Given the description of an element on the screen output the (x, y) to click on. 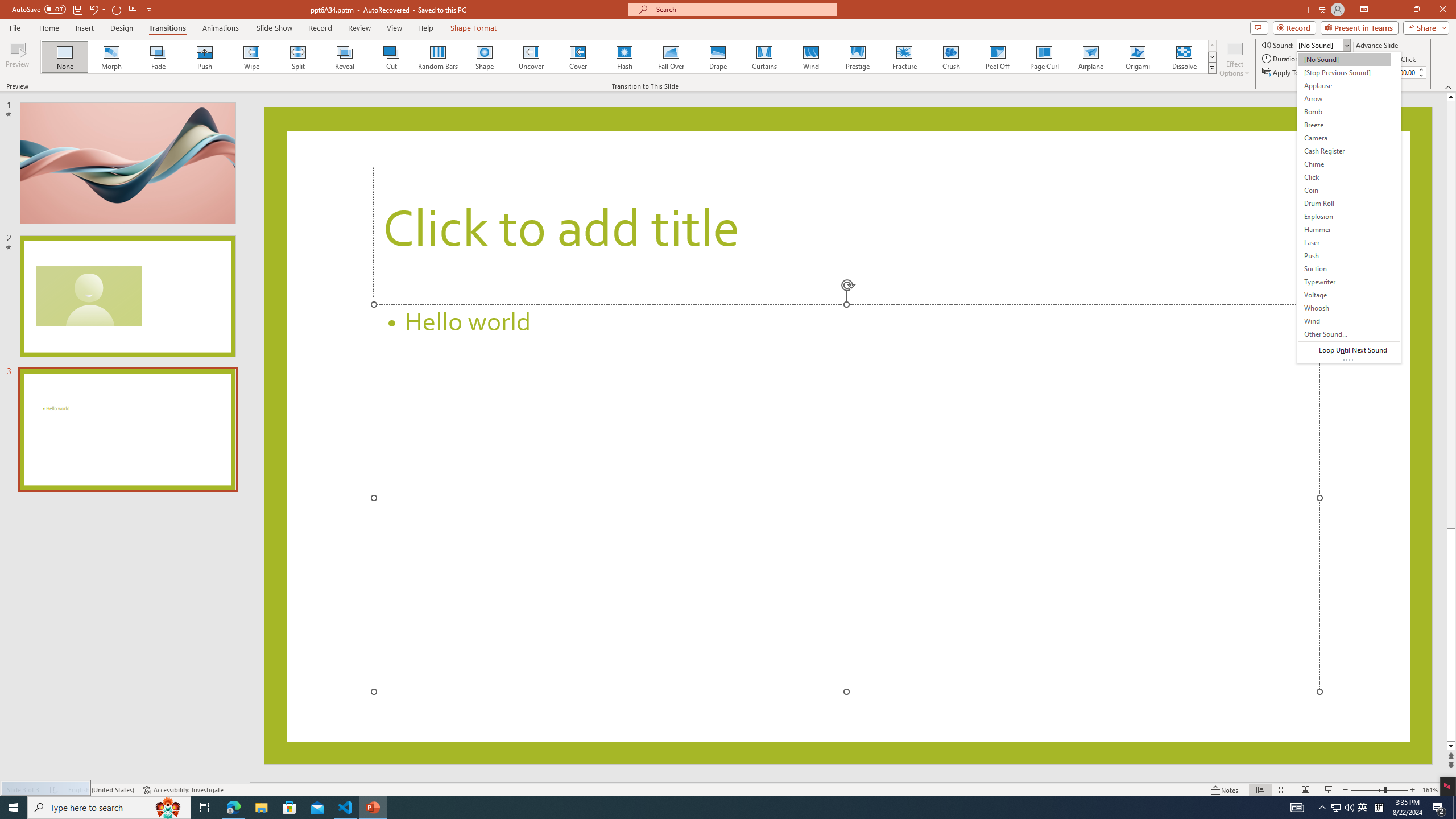
Dissolve (1183, 56)
Origami (1136, 56)
Uncover (531, 56)
Sound (1324, 44)
